Given the description of an element on the screen output the (x, y) to click on. 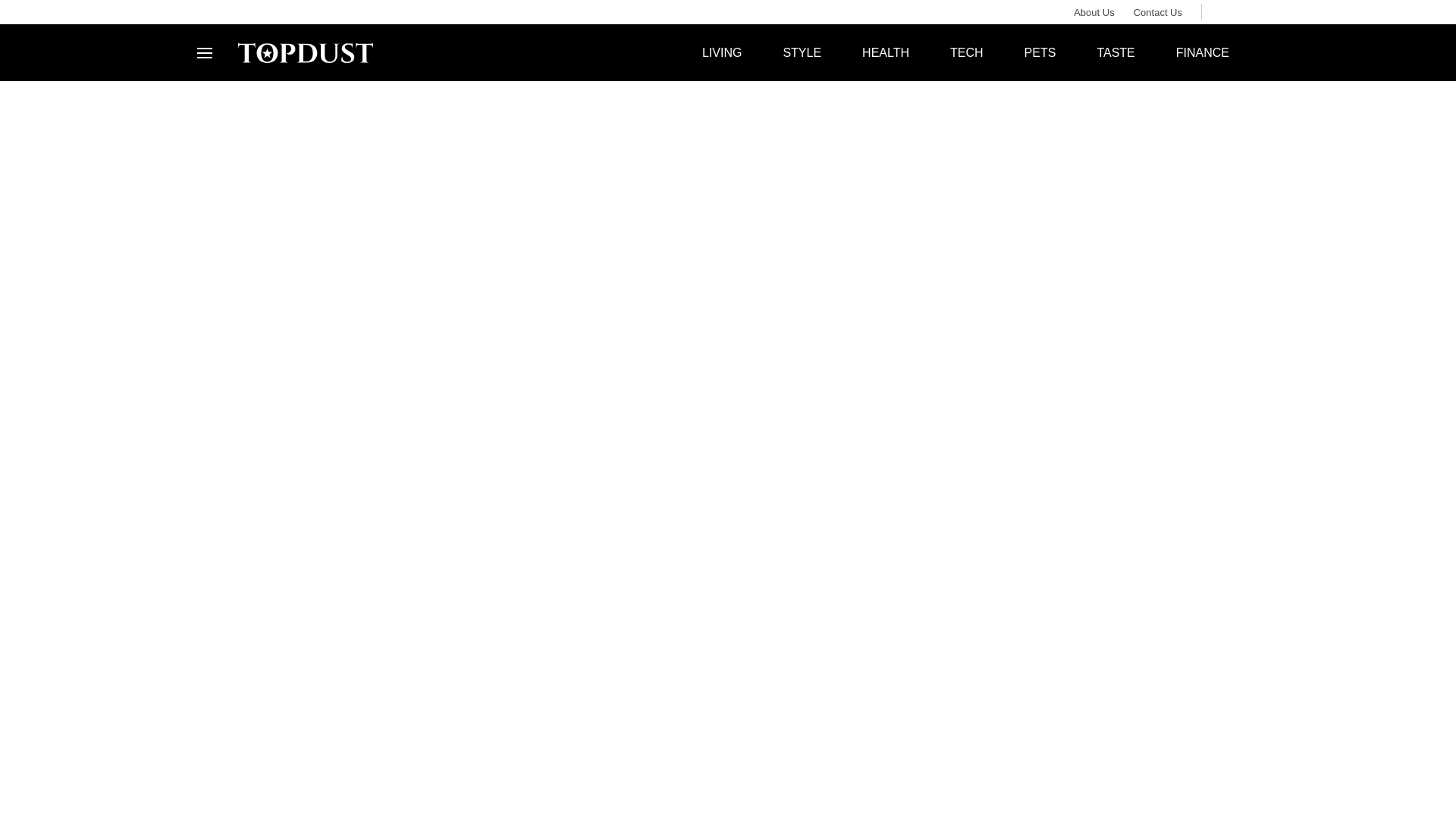
TASTE (1114, 52)
HEALTH (885, 52)
Contact Us (1148, 12)
LIVING (721, 52)
PETS (1040, 52)
FINANCE (1202, 52)
TECH (967, 52)
STYLE (801, 52)
Logo (305, 51)
About Us (1083, 12)
